Given the description of an element on the screen output the (x, y) to click on. 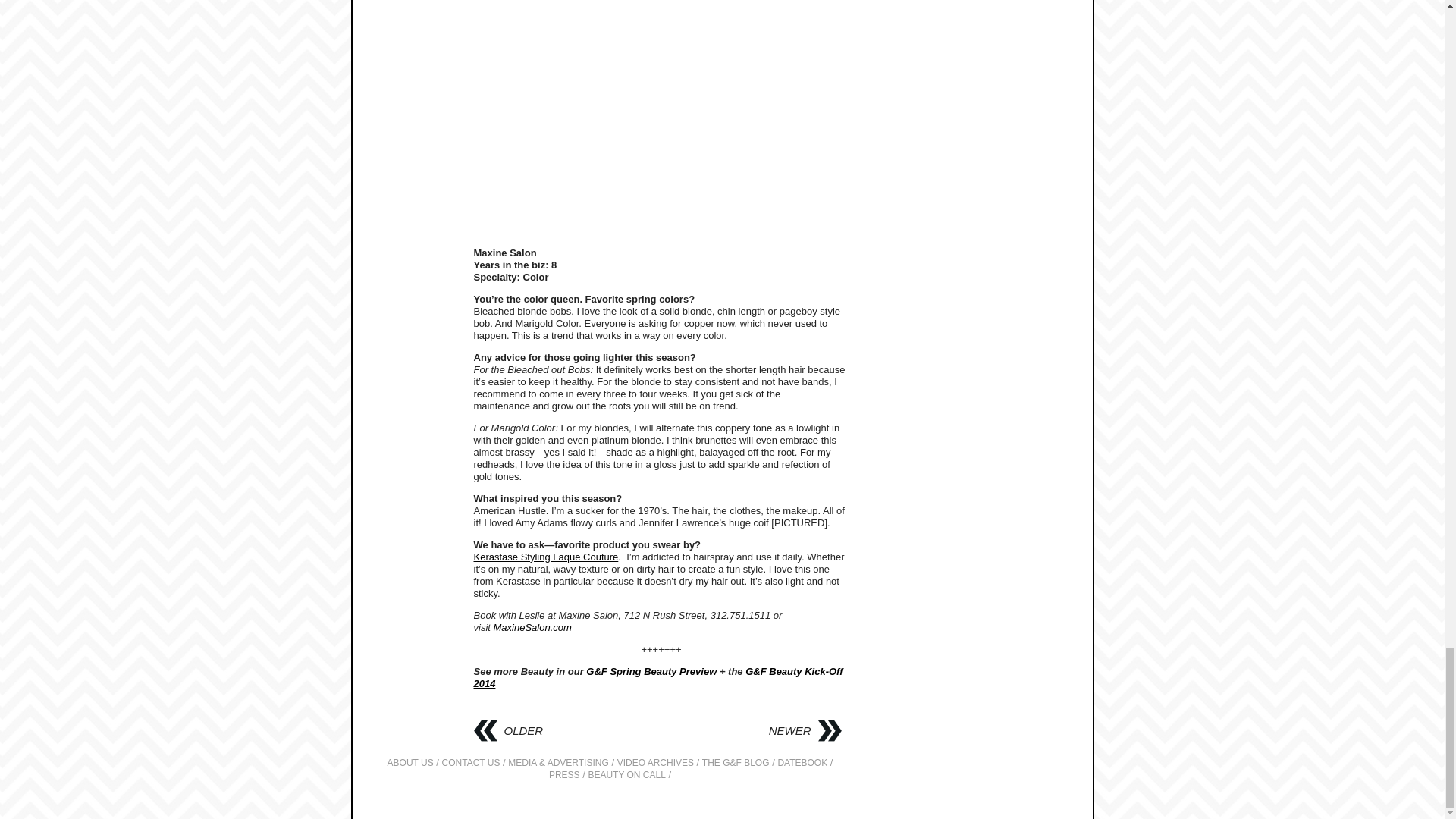
Beauty 2014 Kick-Off (658, 677)
Kerastase Styling Laque Couture (545, 556)
MaxineSalon.com (531, 627)
OLDER (508, 731)
Spring Beauty Preview 2014 (651, 671)
NEWER (804, 731)
